Given the description of an element on the screen output the (x, y) to click on. 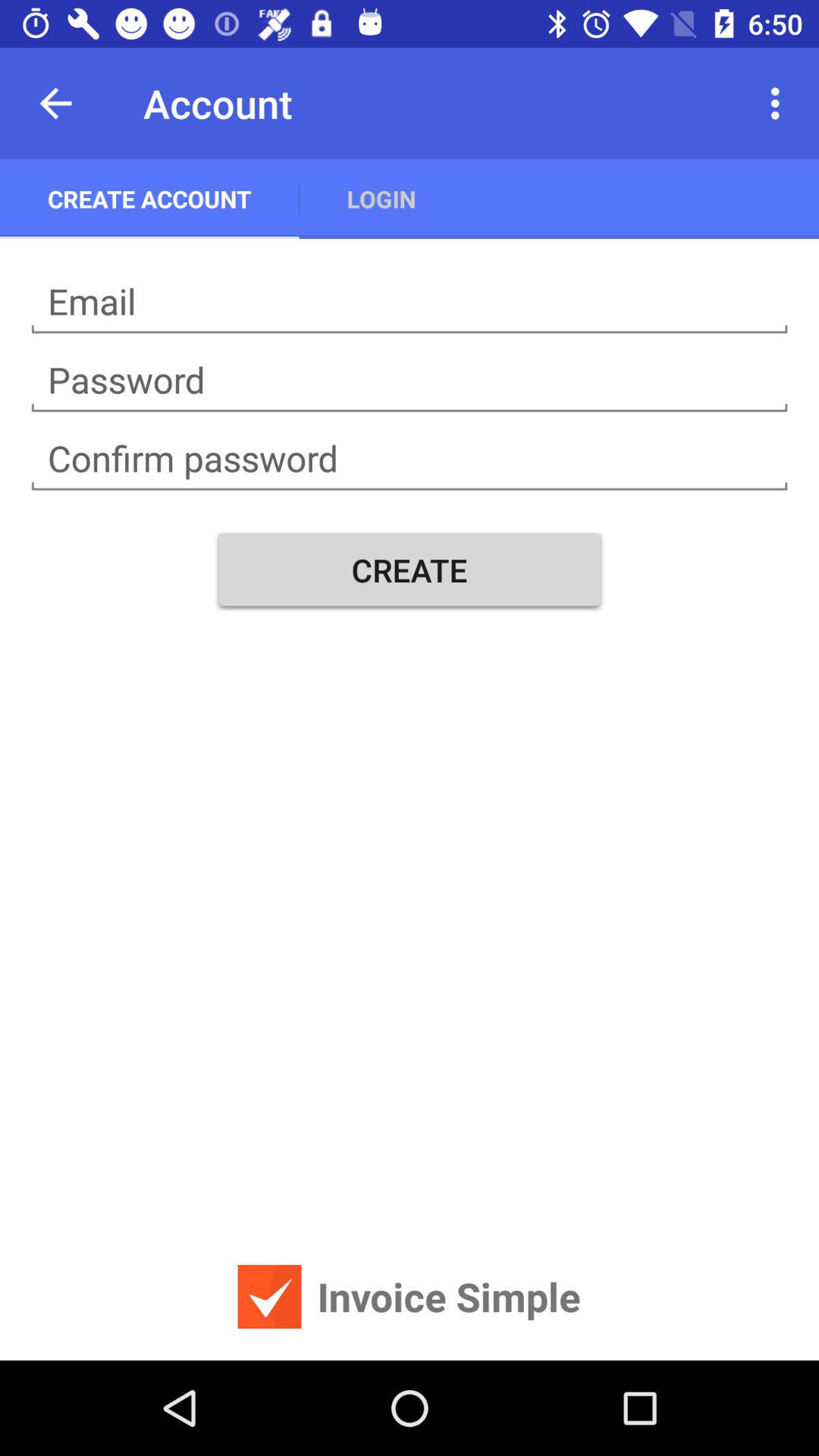
open the app next to the login icon (779, 103)
